Given the description of an element on the screen output the (x, y) to click on. 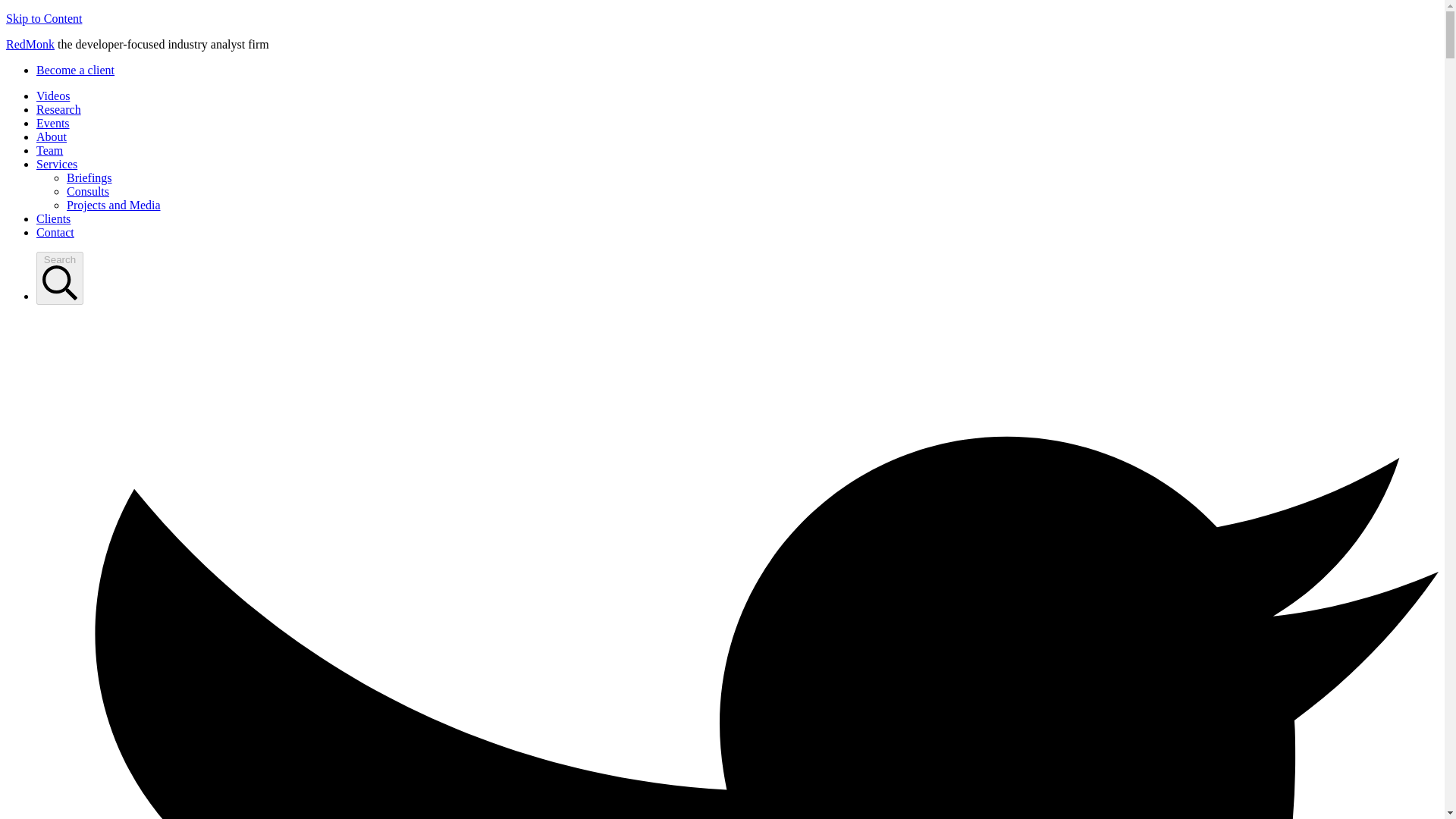
Briefings (89, 177)
About (51, 136)
Research (58, 109)
RedMonk (30, 43)
Projects and Media (113, 205)
Skip to Content (43, 18)
Clients (52, 218)
Services (56, 164)
Videos (52, 95)
Become a client (75, 69)
Events (52, 123)
Consults (87, 191)
Team (49, 150)
Contact (55, 232)
